Given the description of an element on the screen output the (x, y) to click on. 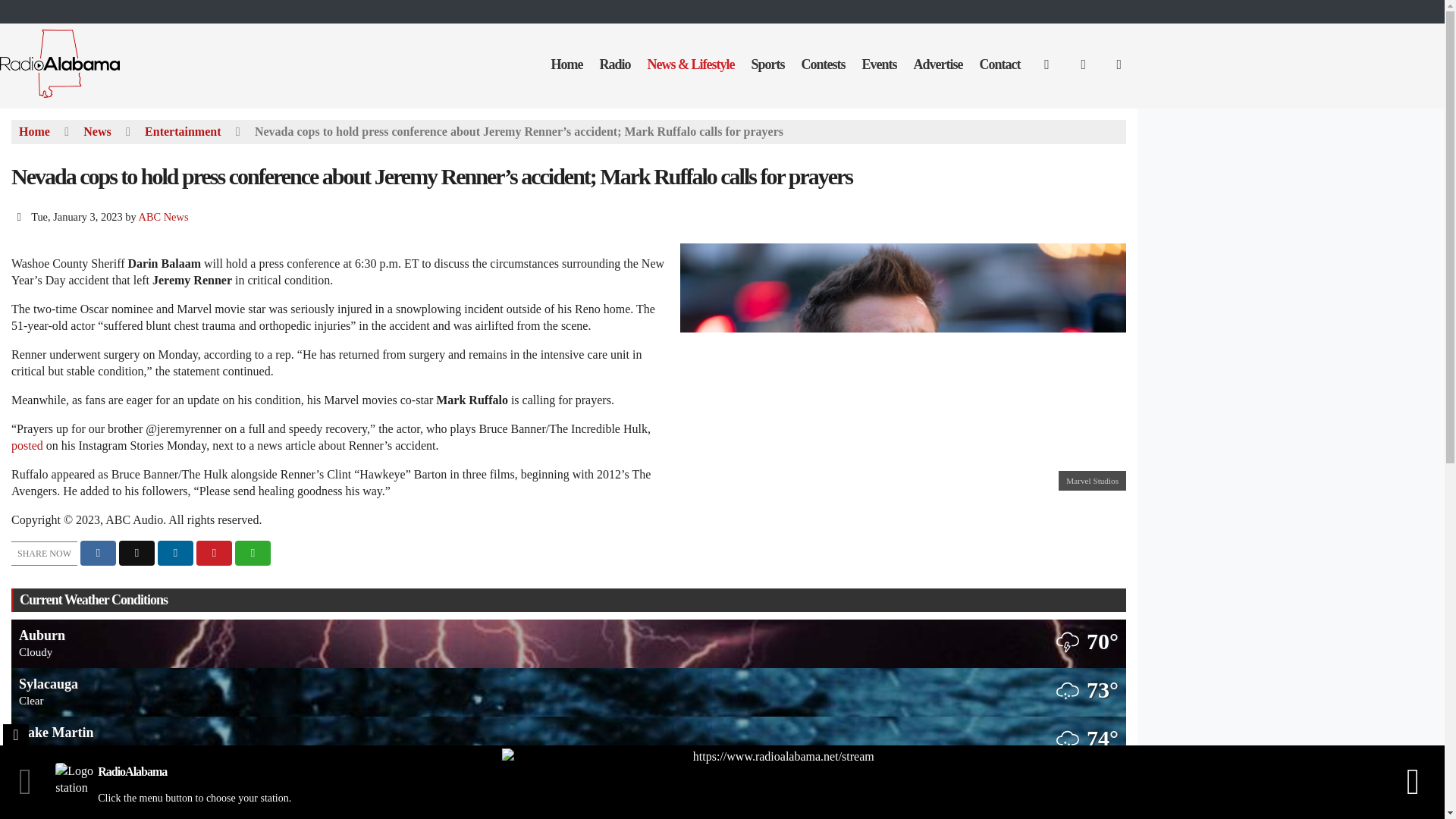
RadioAlabama (71, 95)
